Given the description of an element on the screen output the (x, y) to click on. 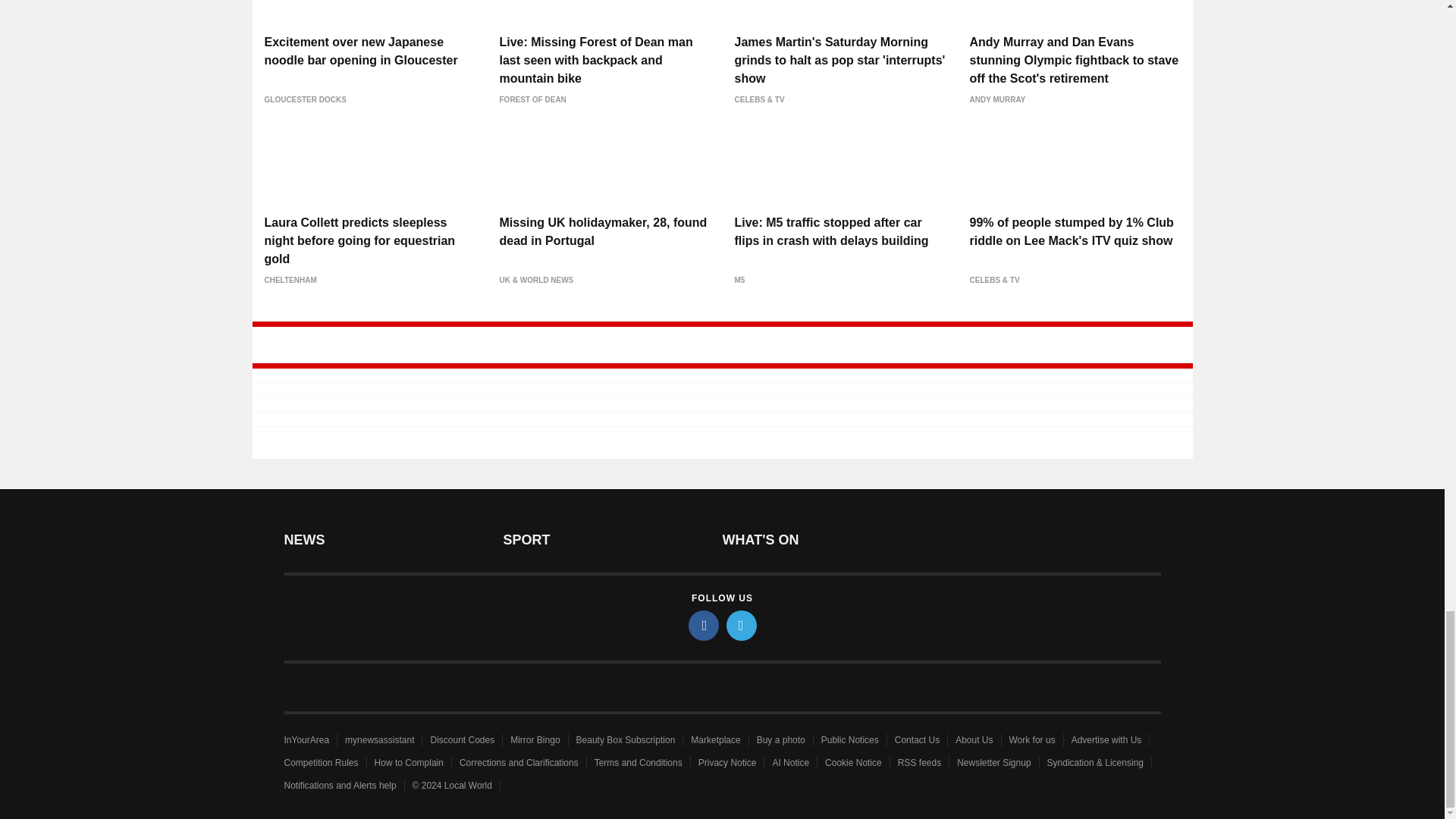
twitter (741, 625)
facebook (703, 625)
